Given the description of an element on the screen output the (x, y) to click on. 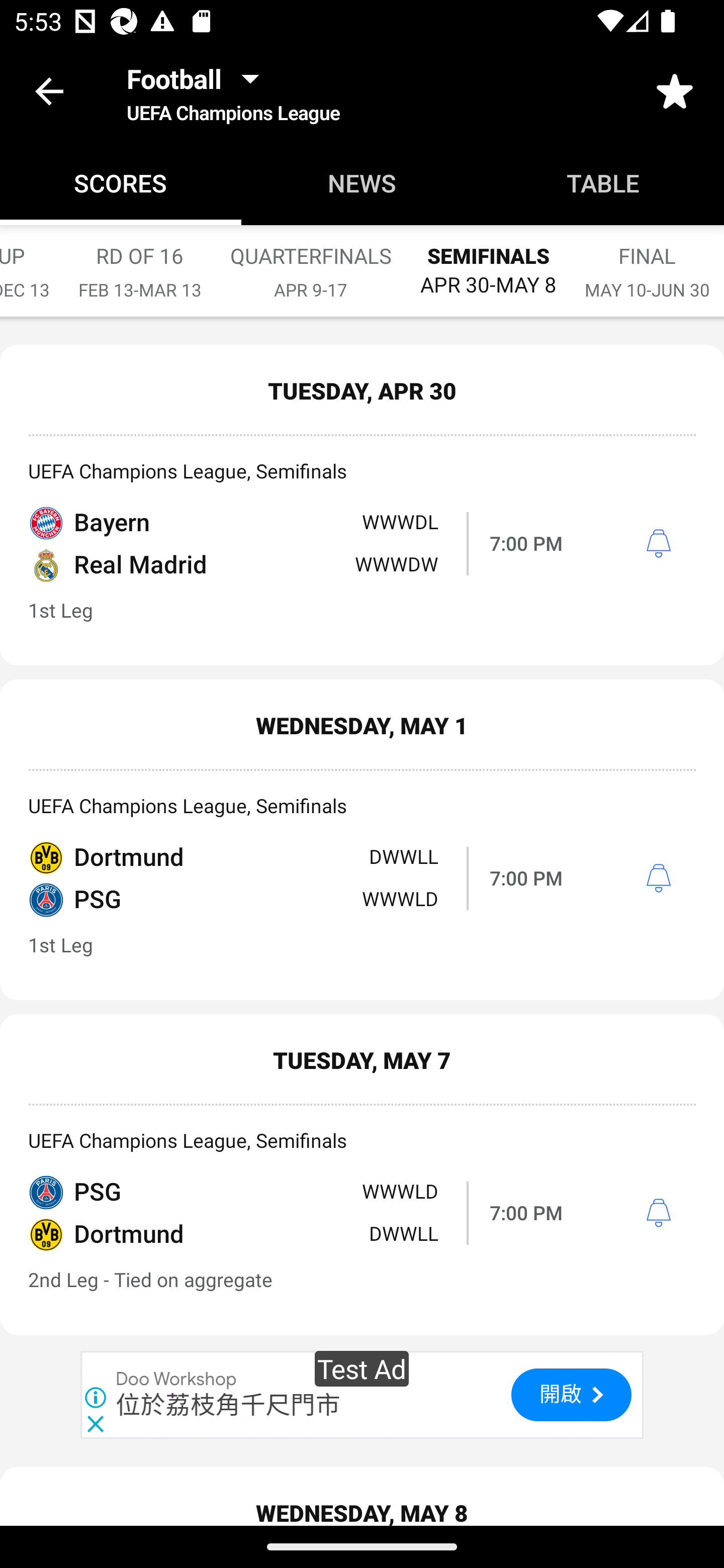
Football UEFA Champions League (232, 90)
Favorite toggle (674, 90)
Scores SCORES (120, 183)
Table TABLE (603, 183)
Marcotti: Staying at Barcelona bad for Xavi (362, 684)
位於荔枝角千尺門市 (228, 805)
